Given the description of an element on the screen output the (x, y) to click on. 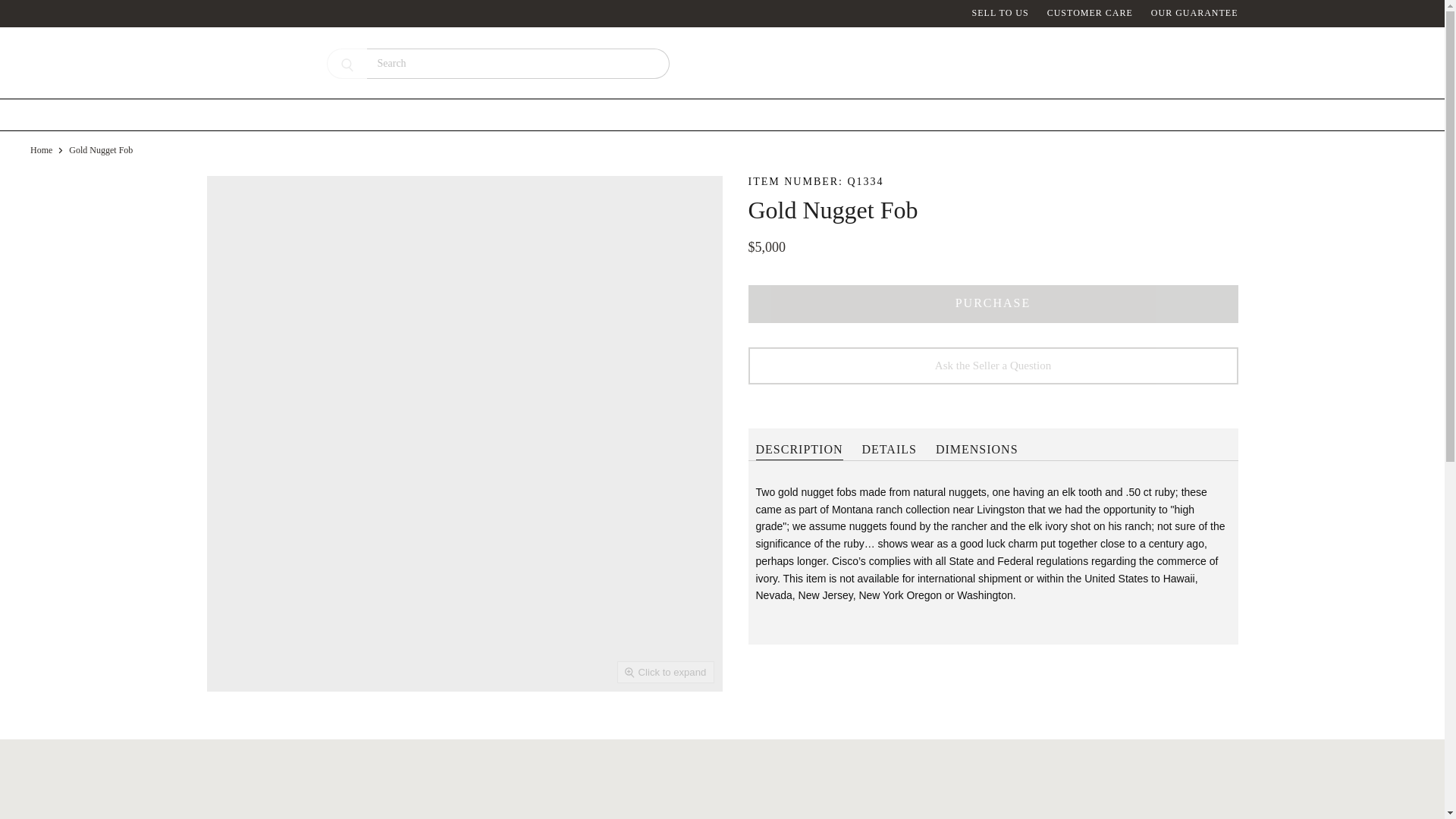
OUR GUARANTEE (1195, 13)
SELL TO US (1000, 13)
CUSTOMER CARE (1089, 13)
